Given the description of an element on the screen output the (x, y) to click on. 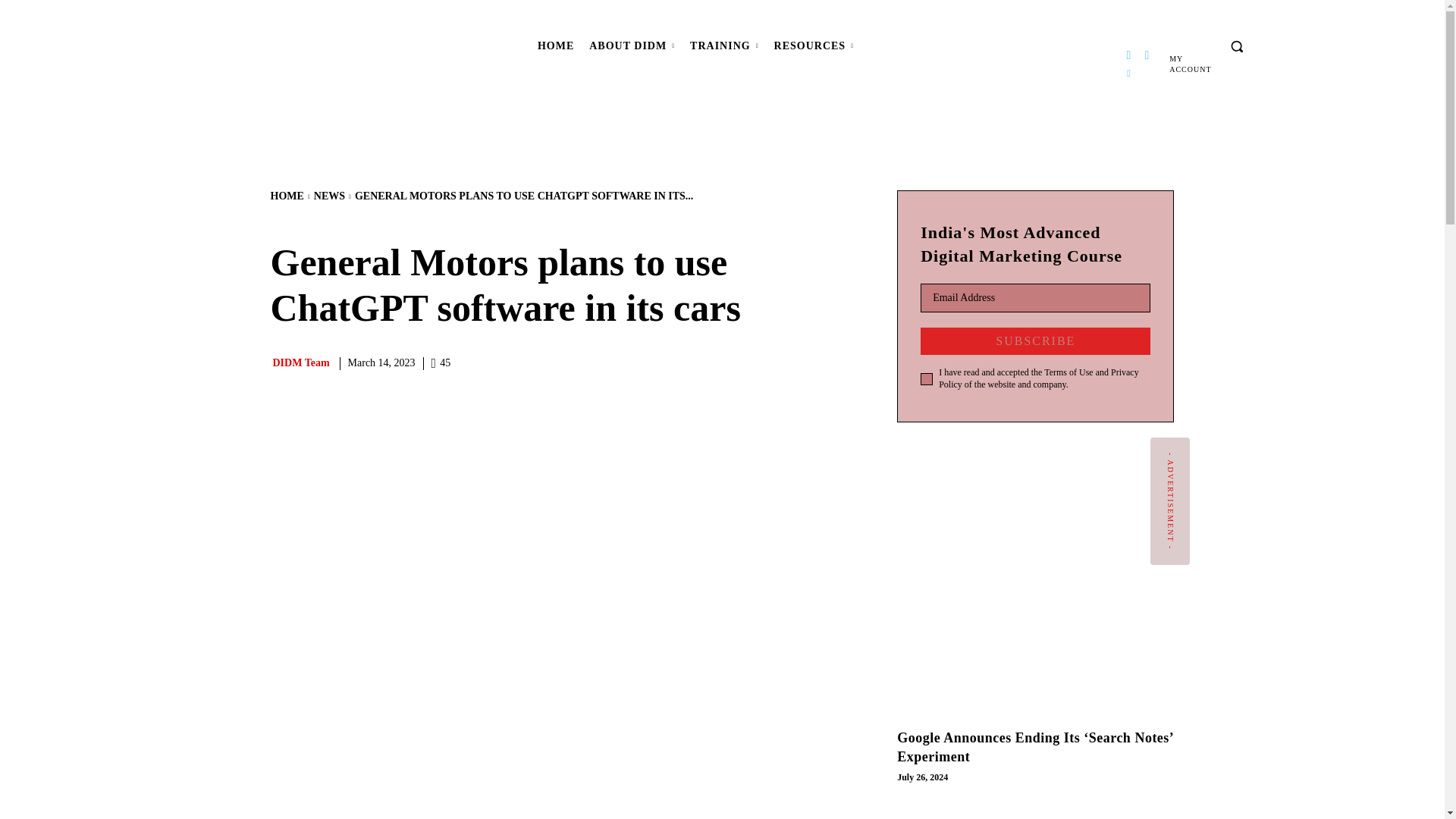
View all posts in News (329, 195)
Instagram (1146, 54)
ABOUT DIDM (631, 46)
Linkedin (1128, 73)
HOME (554, 45)
Facebook (1128, 54)
TRAINING (724, 46)
